Given the description of an element on the screen output the (x, y) to click on. 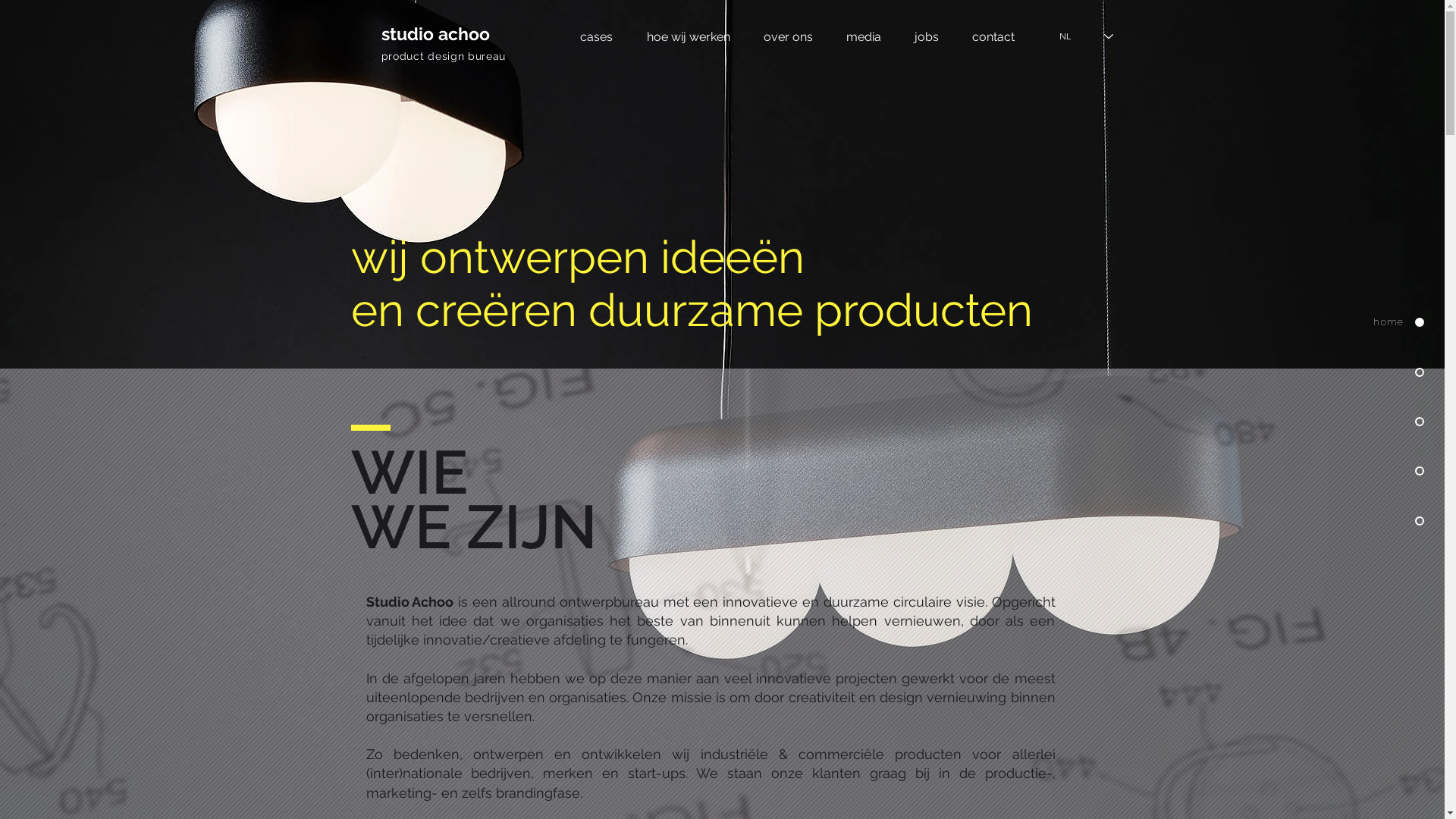
jobs Element type: text (926, 36)
cases Element type: text (595, 36)
media Element type: text (863, 36)
home Element type: text (1375, 322)
over ons Element type: text (787, 36)
hoe wij werken Element type: text (687, 36)
product design bureau Element type: text (442, 56)
studio achoo Element type: text (434, 33)
contact Element type: text (993, 36)
